Given the description of an element on the screen output the (x, y) to click on. 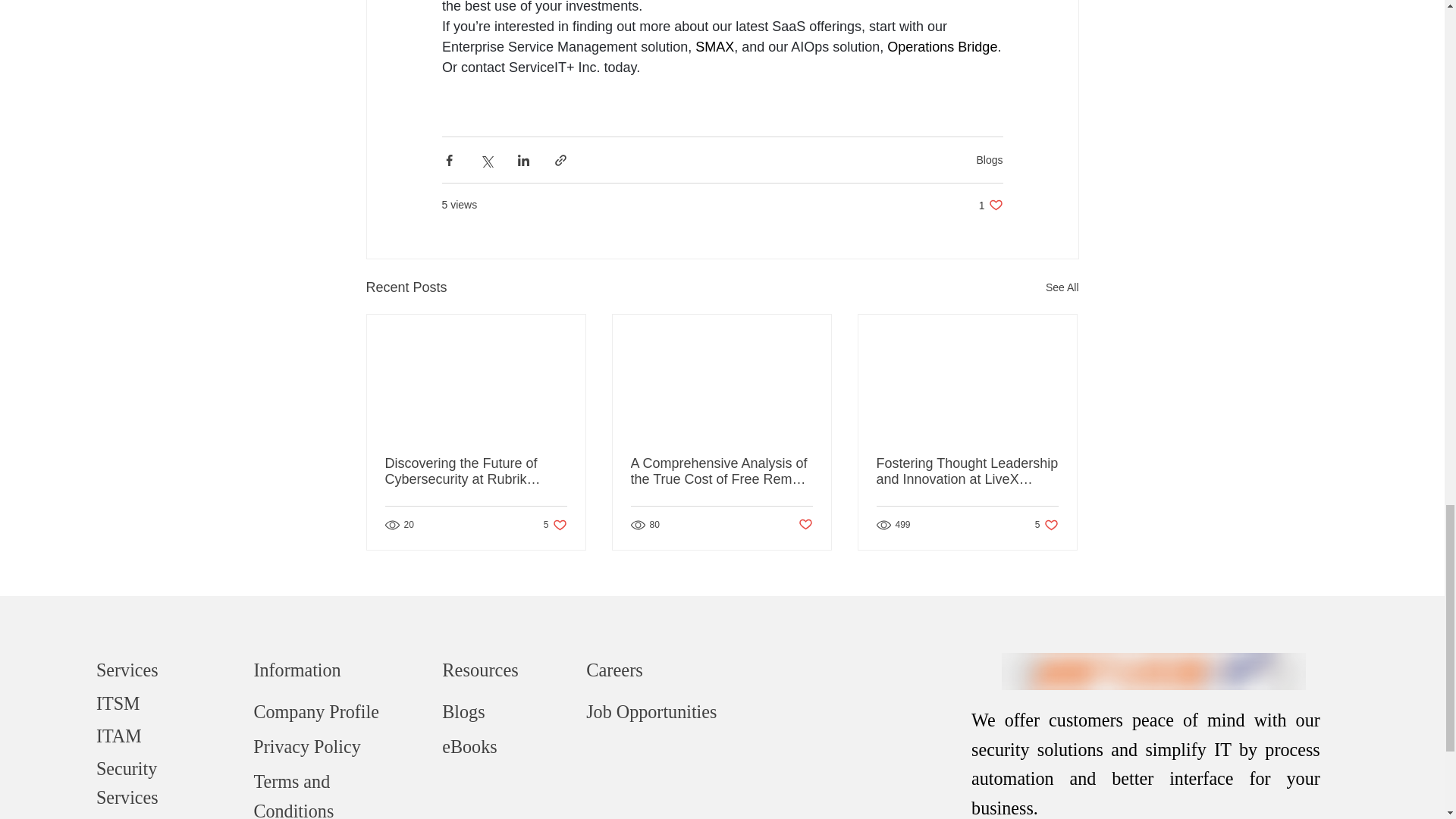
Operations Bridge (941, 46)
SMAX (714, 46)
